Given the description of an element on the screen output the (x, y) to click on. 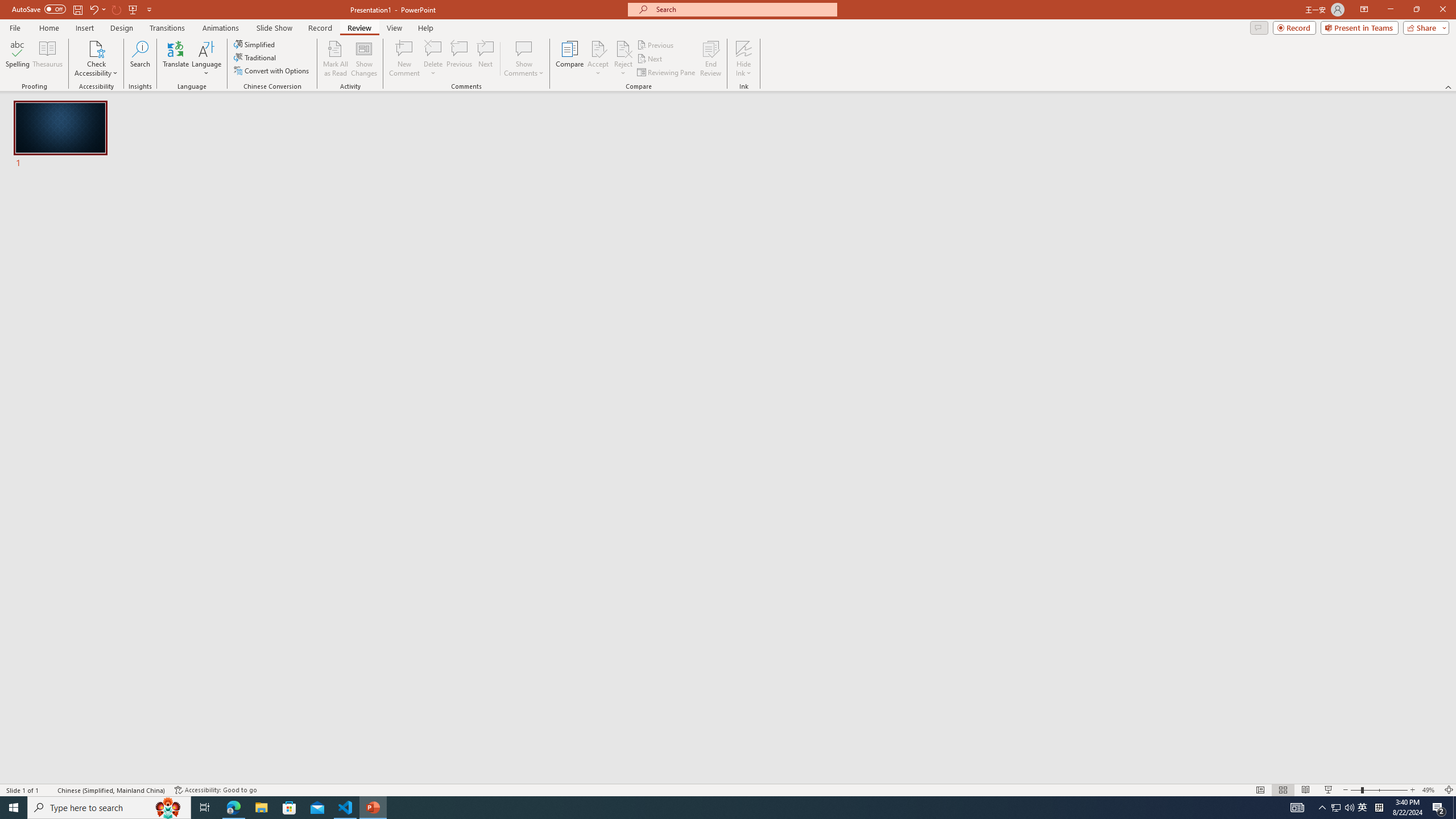
Zoom 49% (1430, 790)
